Given the description of an element on the screen output the (x, y) to click on. 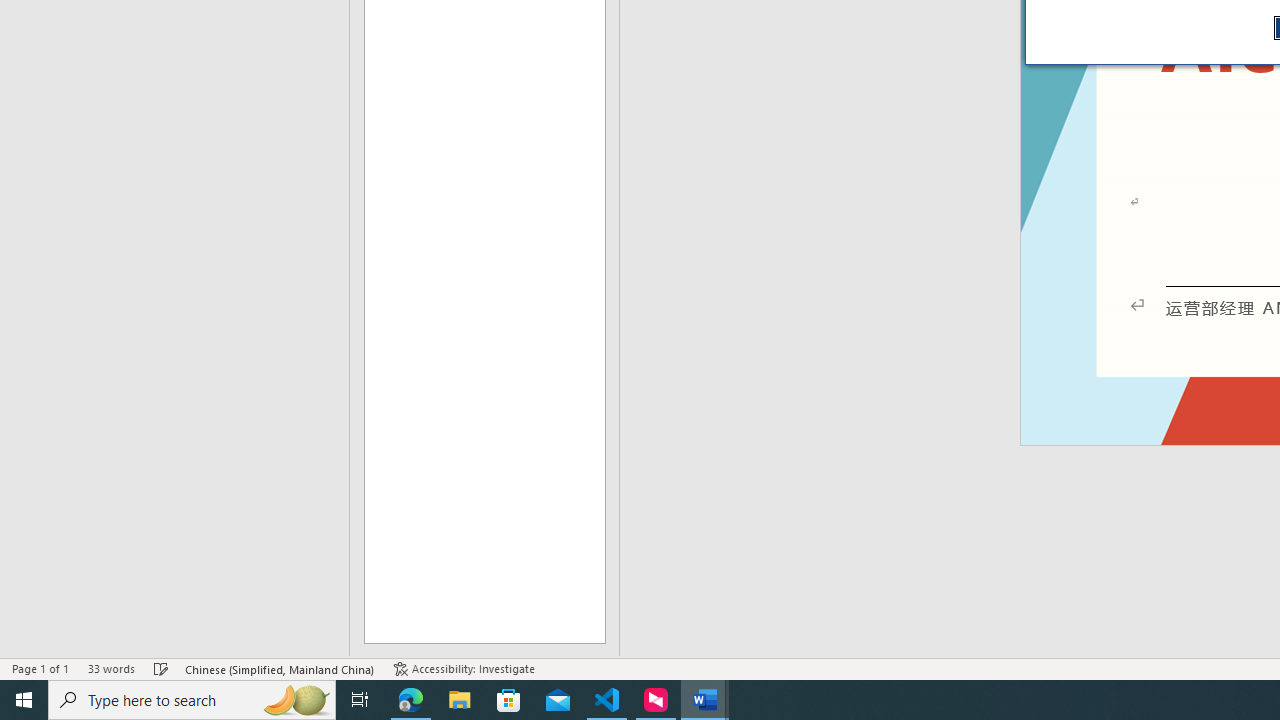
Microsoft Edge - 1 running window (411, 699)
Page Number Page 1 of 1 (39, 668)
File Explorer (460, 699)
